Given the description of an element on the screen output the (x, y) to click on. 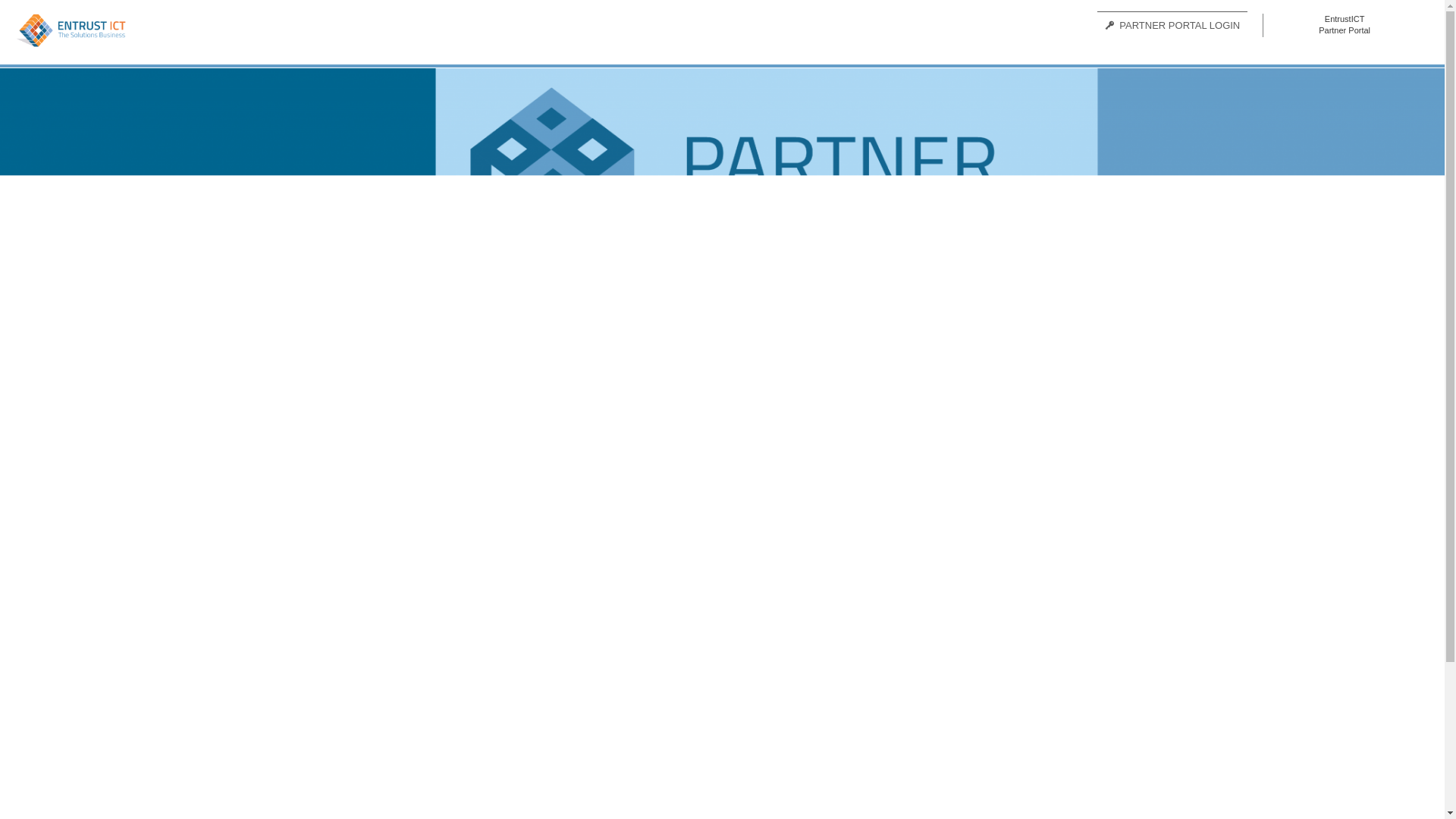
PARTNER PORTAL LOGIN Element type: text (1172, 24)
